Given the description of an element on the screen output the (x, y) to click on. 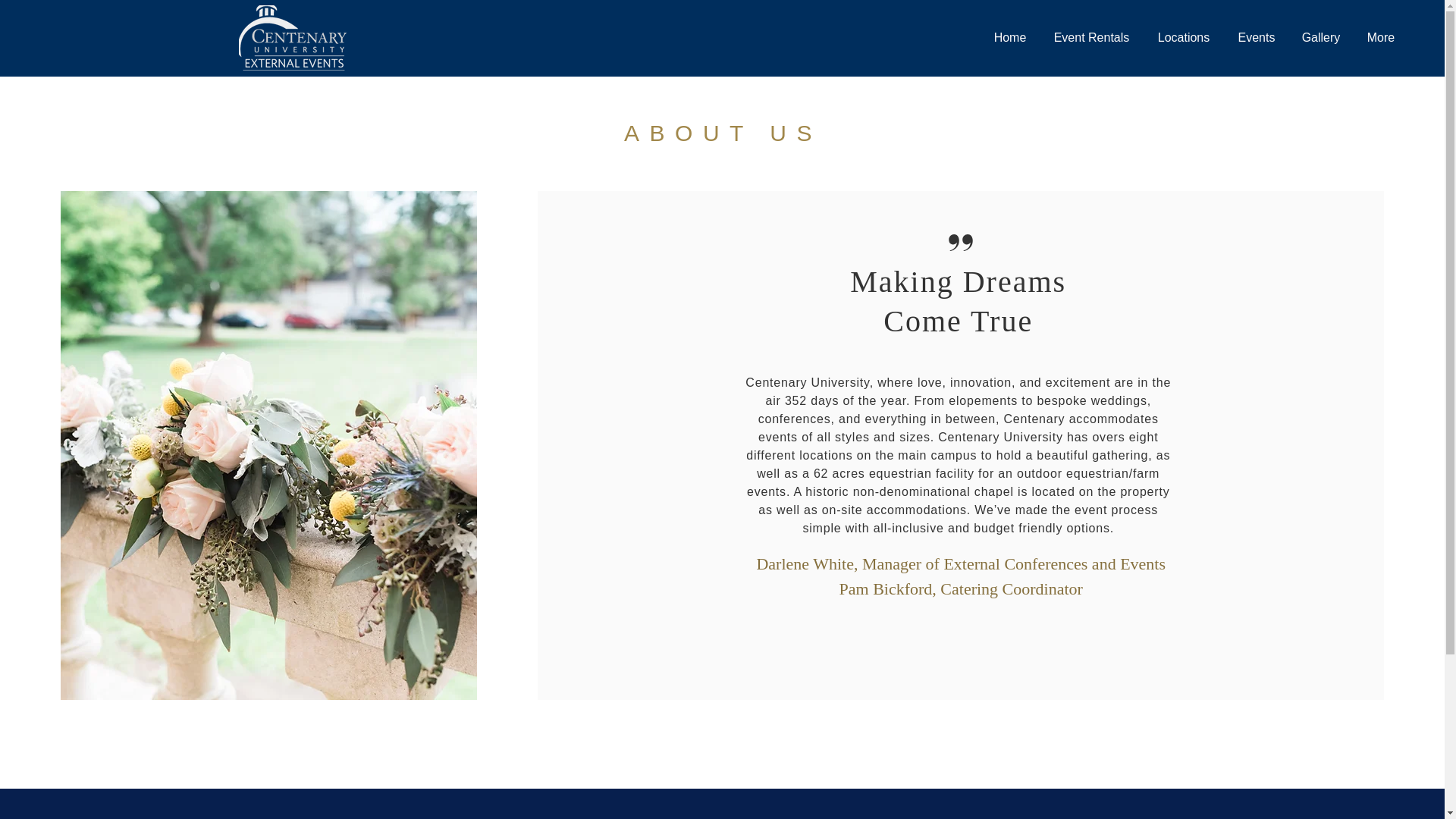
Locations (1183, 37)
Events (1256, 37)
Gallery (1321, 37)
Home (1010, 37)
Event Rentals (1091, 37)
